Given the description of an element on the screen output the (x, y) to click on. 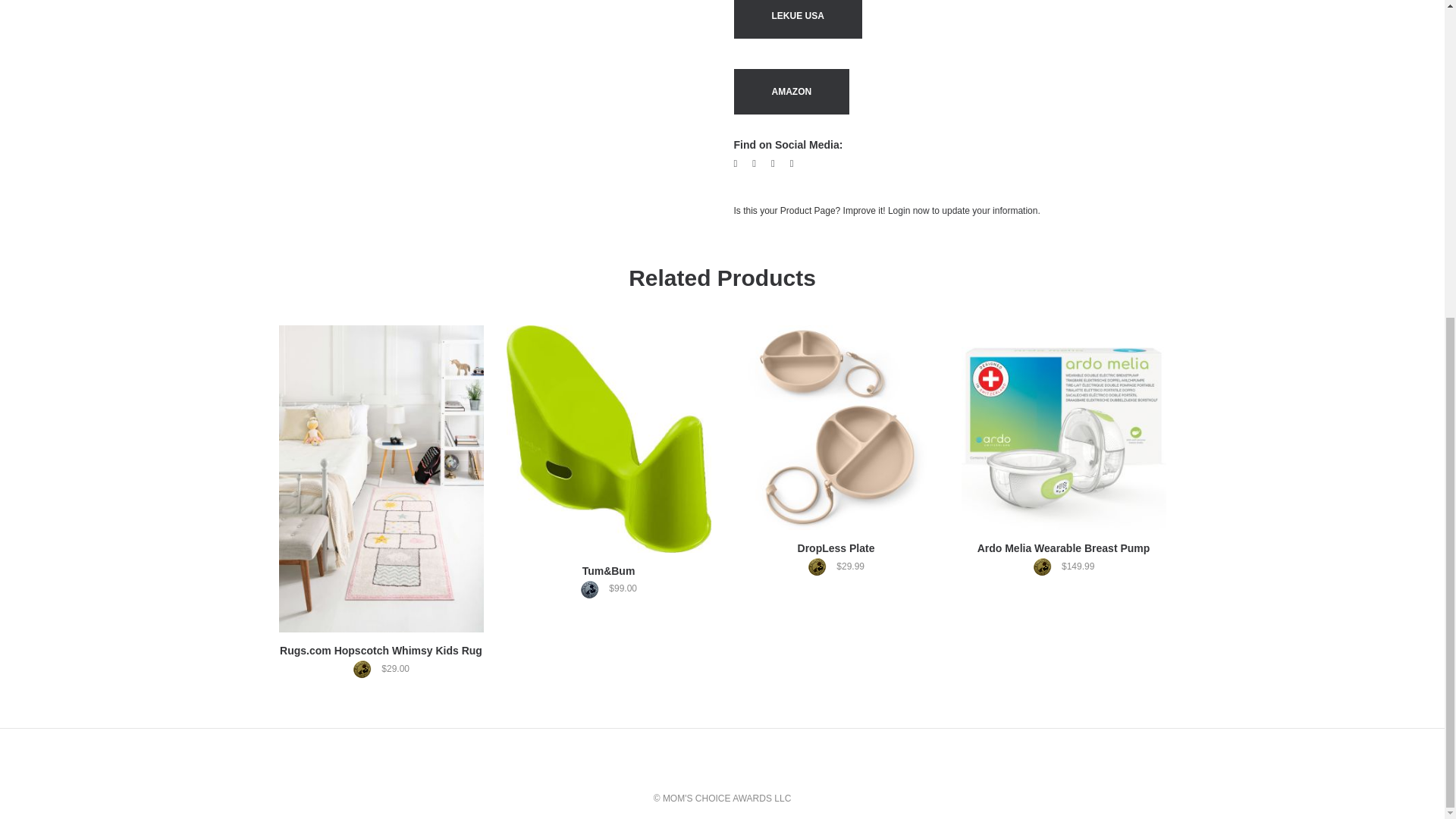
MCA Gold Award (821, 566)
MCA Gold Award (365, 669)
MCA Silver Award (593, 588)
MCA Gold Award (1045, 566)
